Given the description of an element on the screen output the (x, y) to click on. 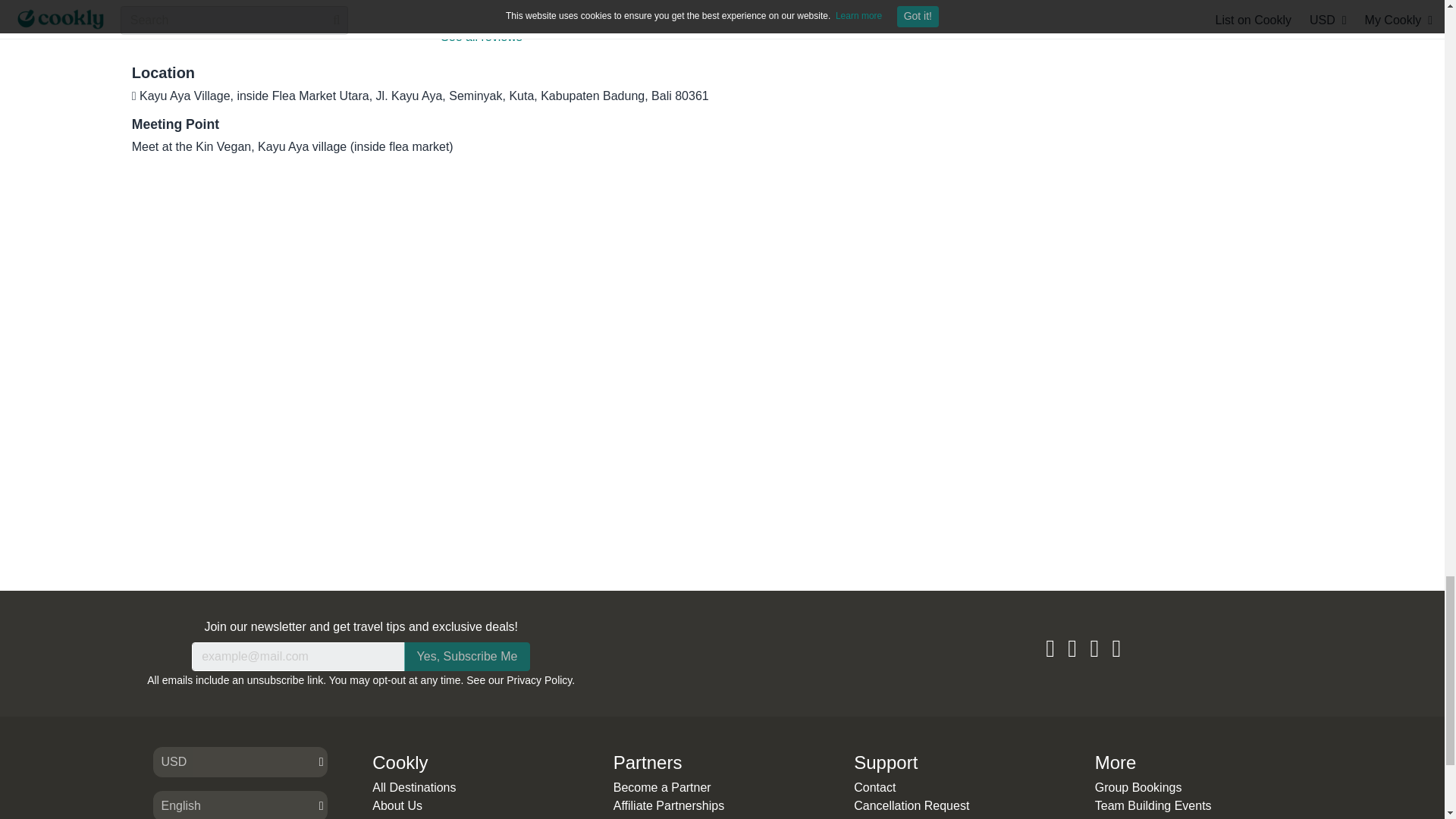
Yes, Subscribe Me (467, 656)
